Given the description of an element on the screen output the (x, y) to click on. 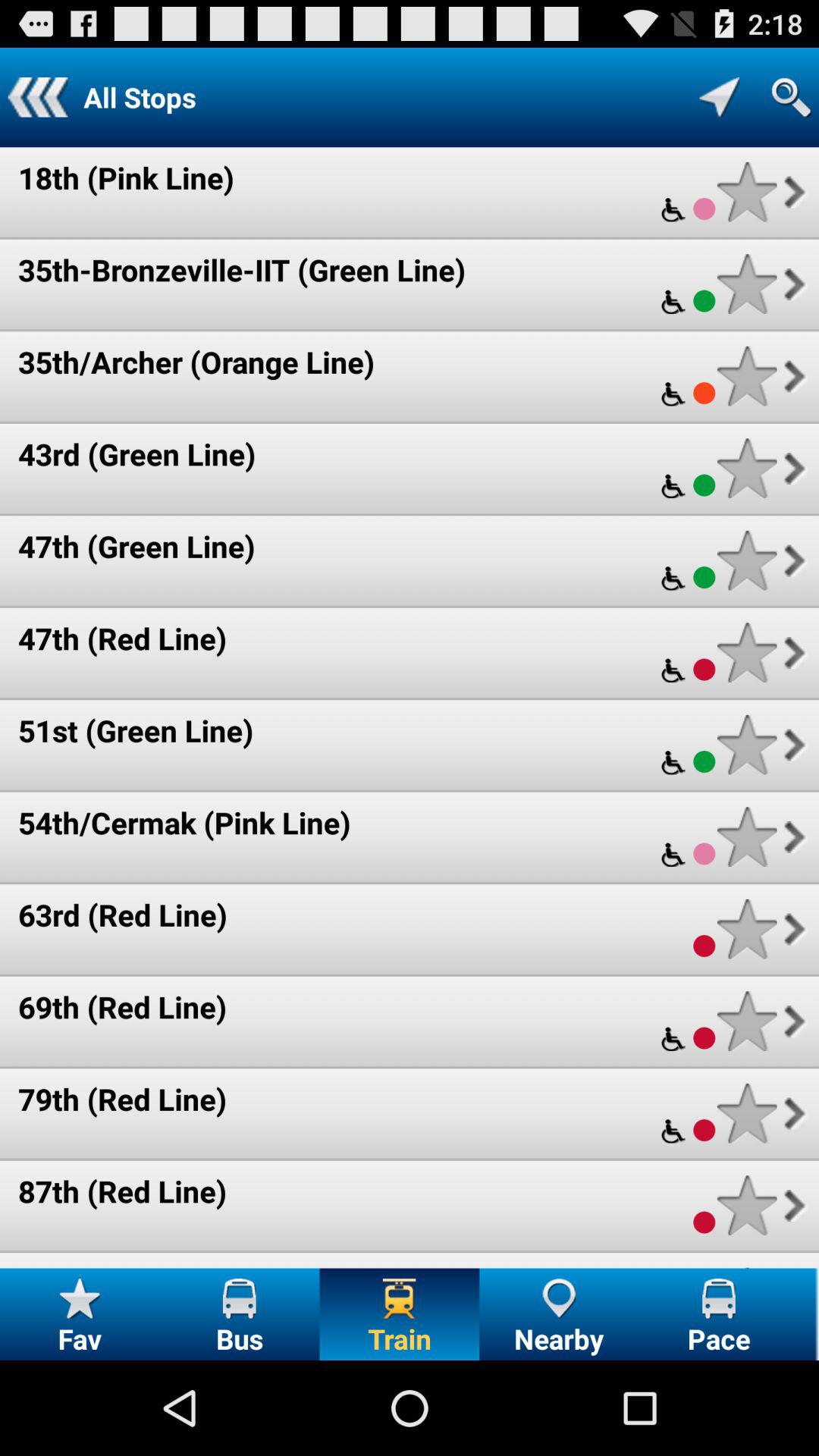
favorite (746, 560)
